Given the description of an element on the screen output the (x, y) to click on. 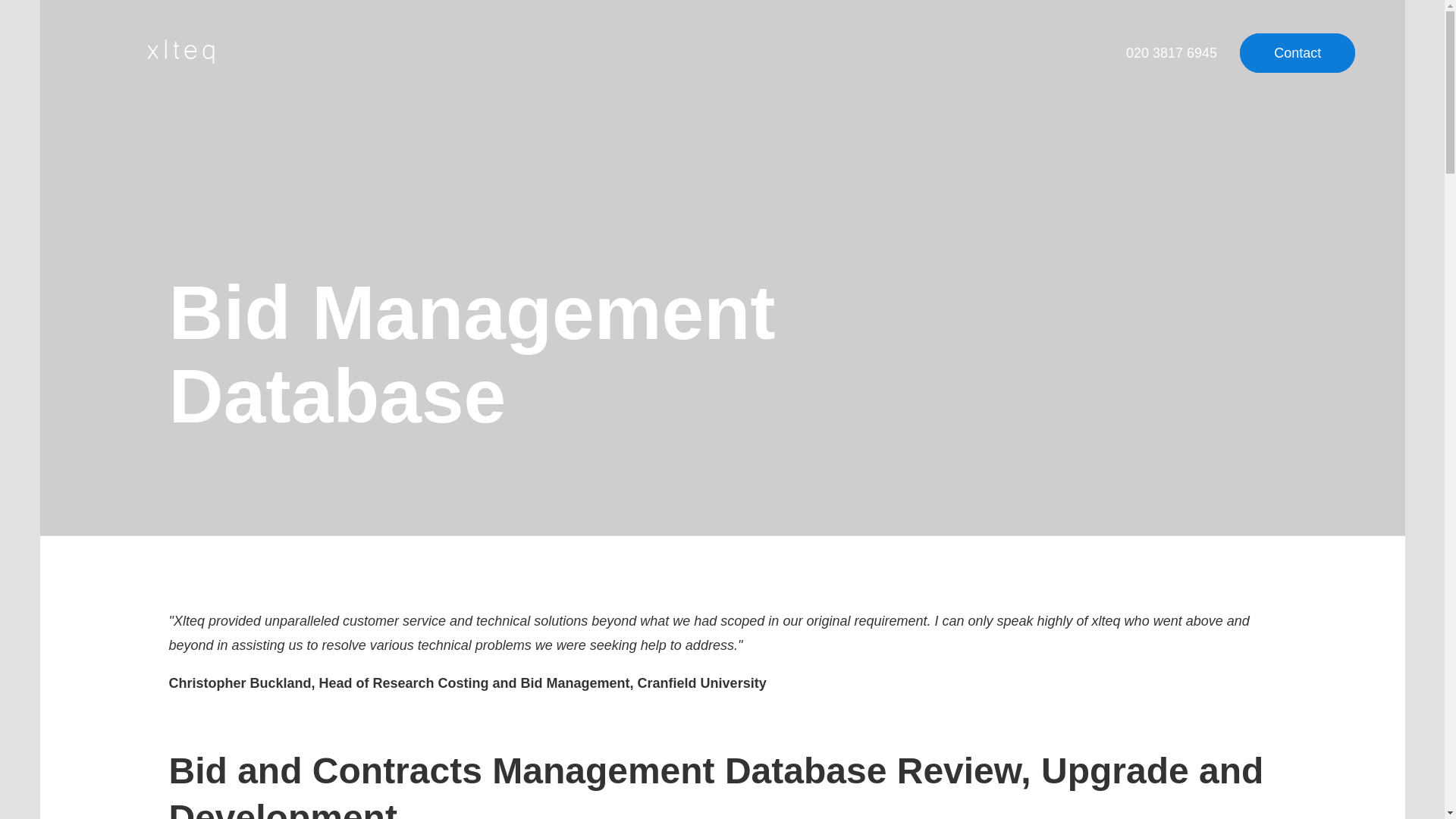
020 3817 6945 (1173, 52)
Contact (1297, 53)
